Given the description of an element on the screen output the (x, y) to click on. 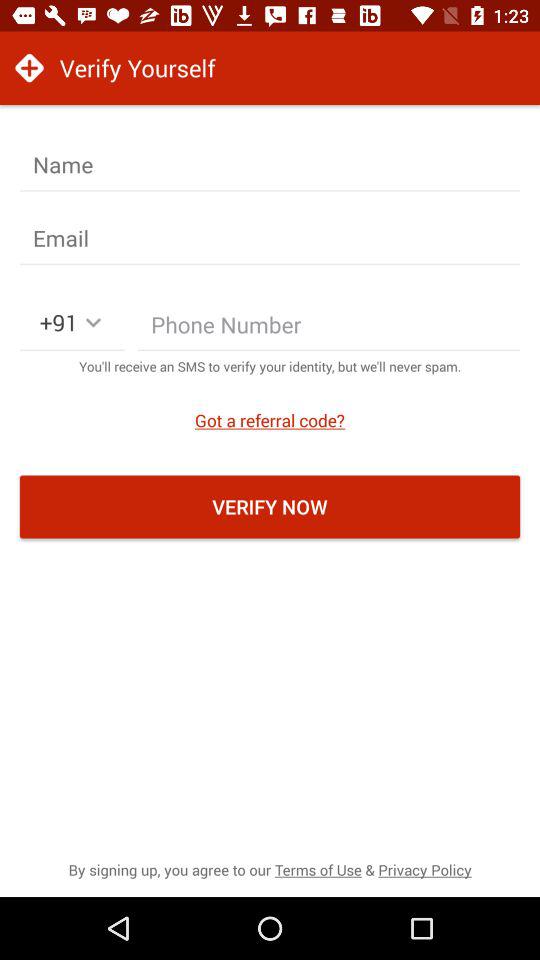
your name (269, 165)
